Given the description of an element on the screen output the (x, y) to click on. 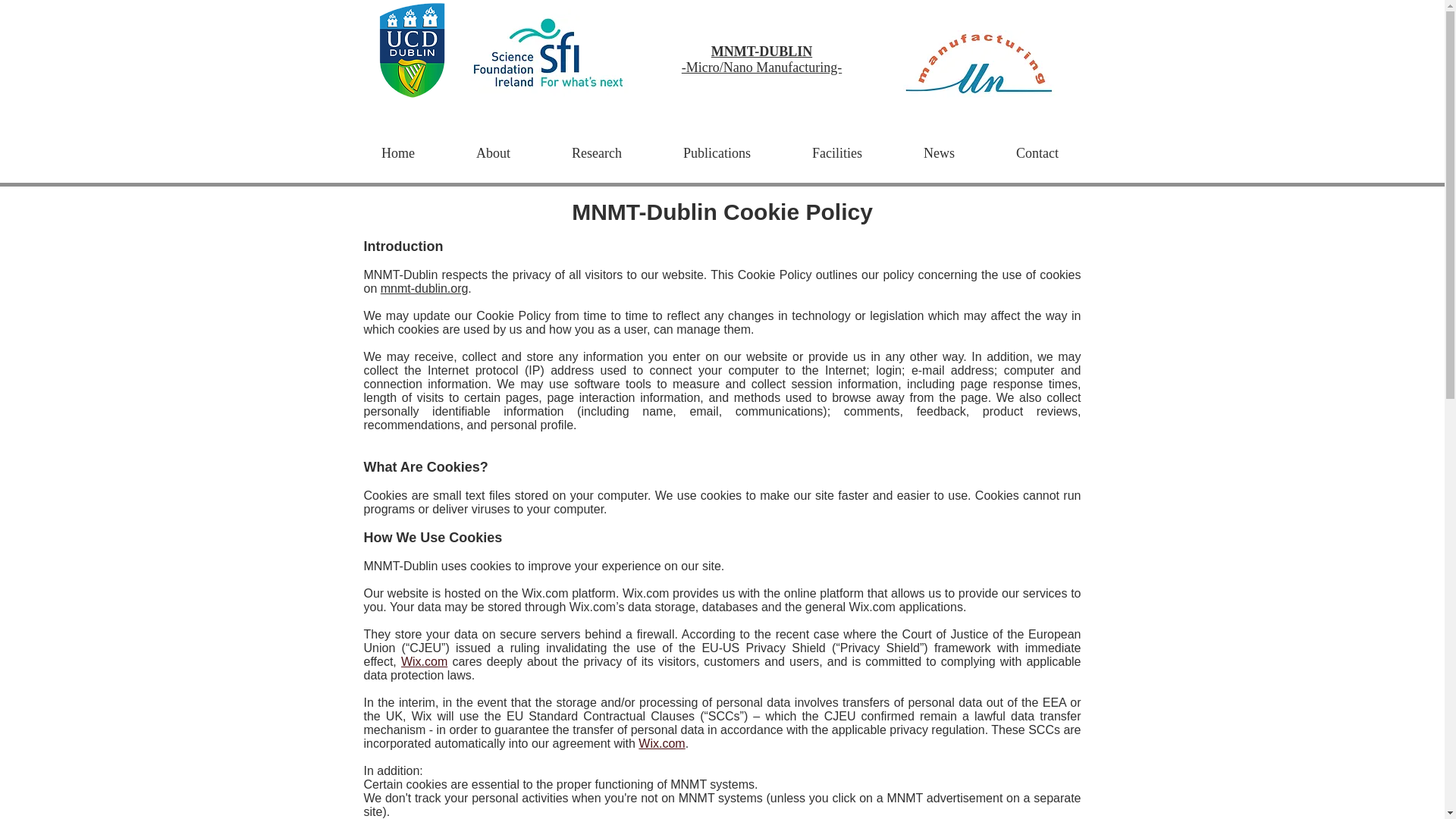
About (493, 152)
Facilities (836, 152)
Home (397, 152)
News (939, 152)
Publications (716, 152)
sfi-logo.jpg (549, 52)
Research (596, 152)
